Given the description of an element on the screen output the (x, y) to click on. 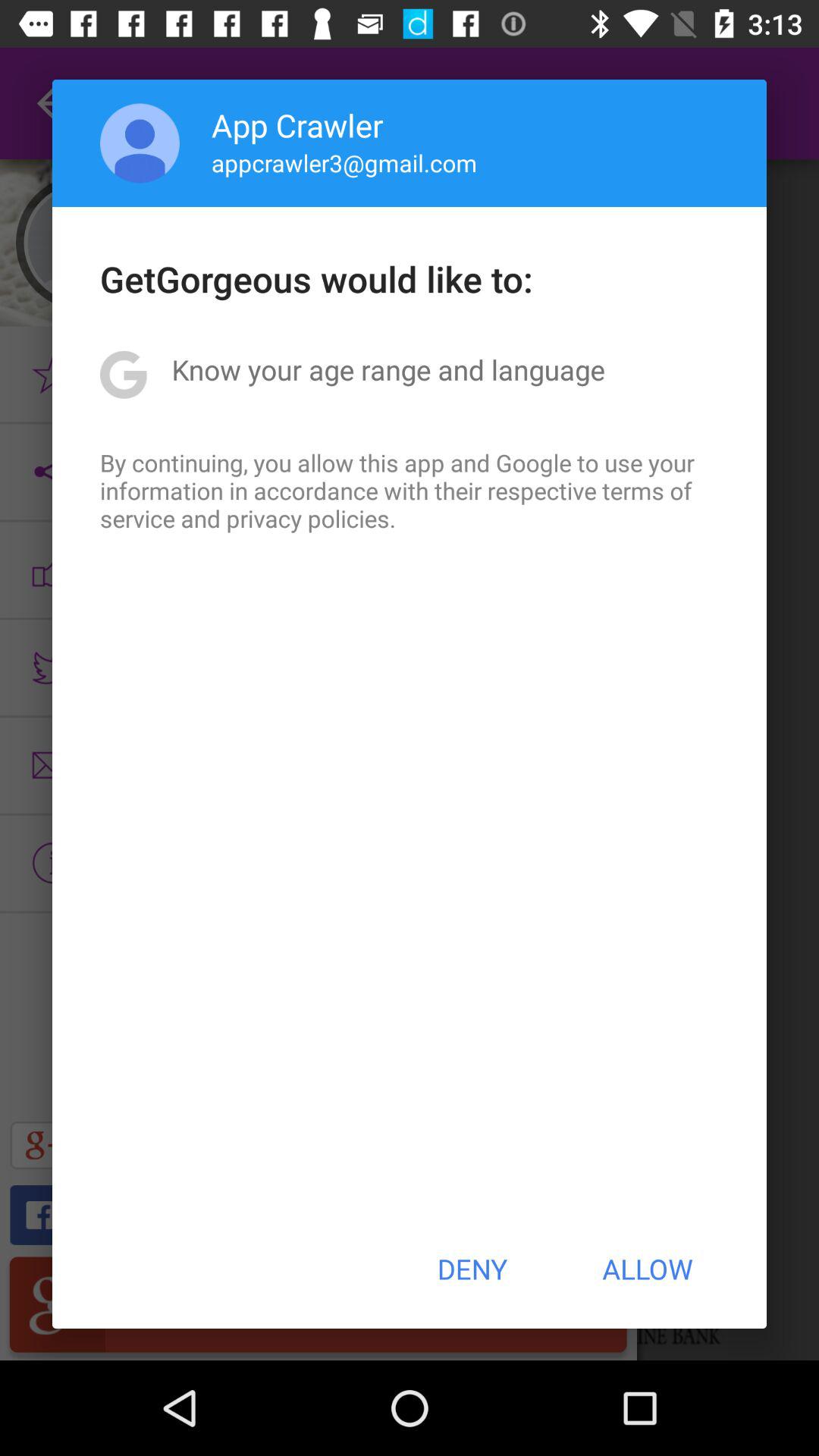
open icon to the left of app crawler item (139, 143)
